Given the description of an element on the screen output the (x, y) to click on. 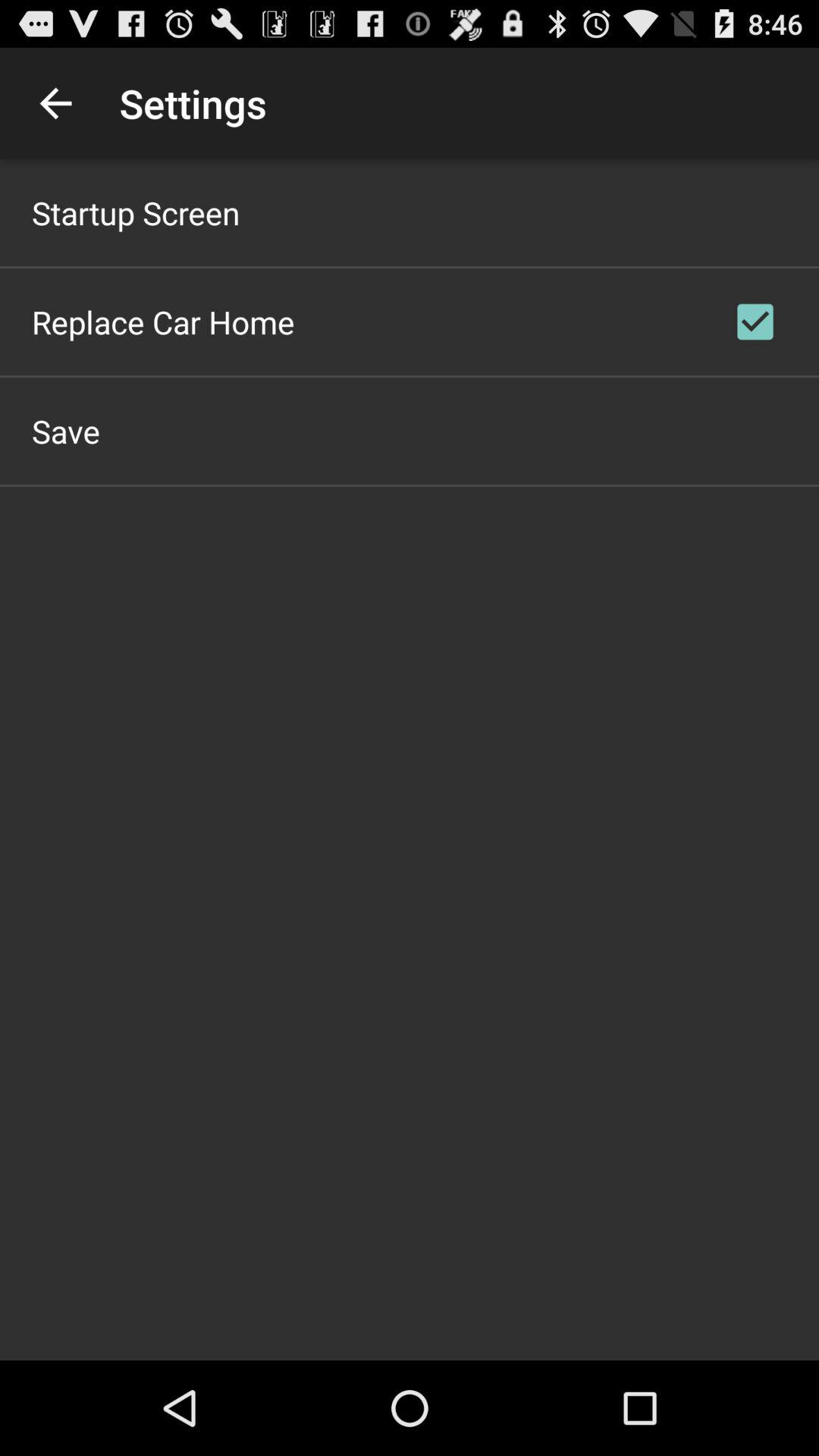
launch startup screen (135, 212)
